Given the description of an element on the screen output the (x, y) to click on. 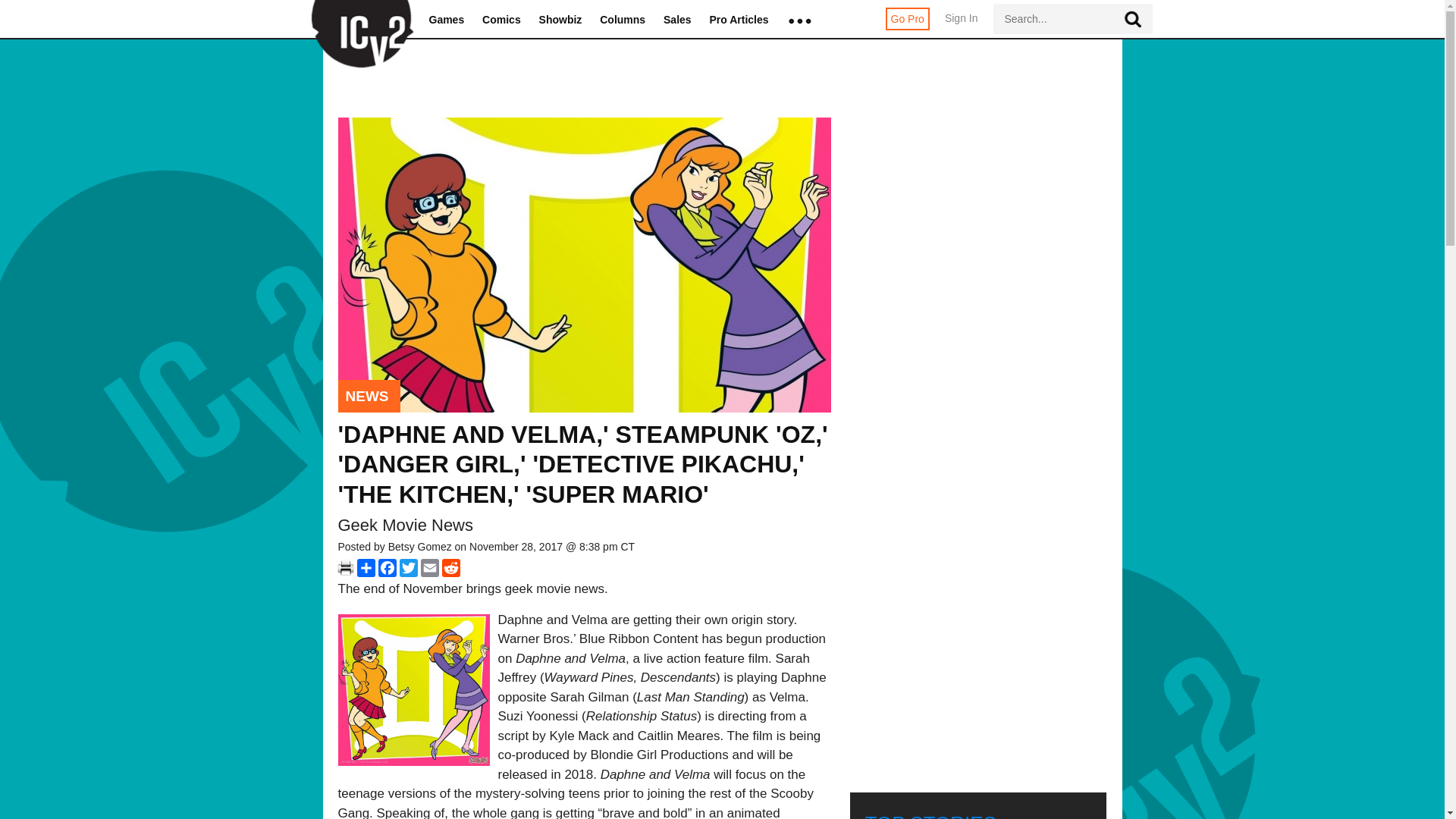
ICv2 (357, 19)
Games (446, 20)
Twitter (408, 567)
Go Pro (907, 18)
Comics (501, 20)
Facebook (386, 567)
Reddit (450, 567)
Sales (677, 20)
Columns (622, 20)
Email (429, 567)
